Given the description of an element on the screen output the (x, y) to click on. 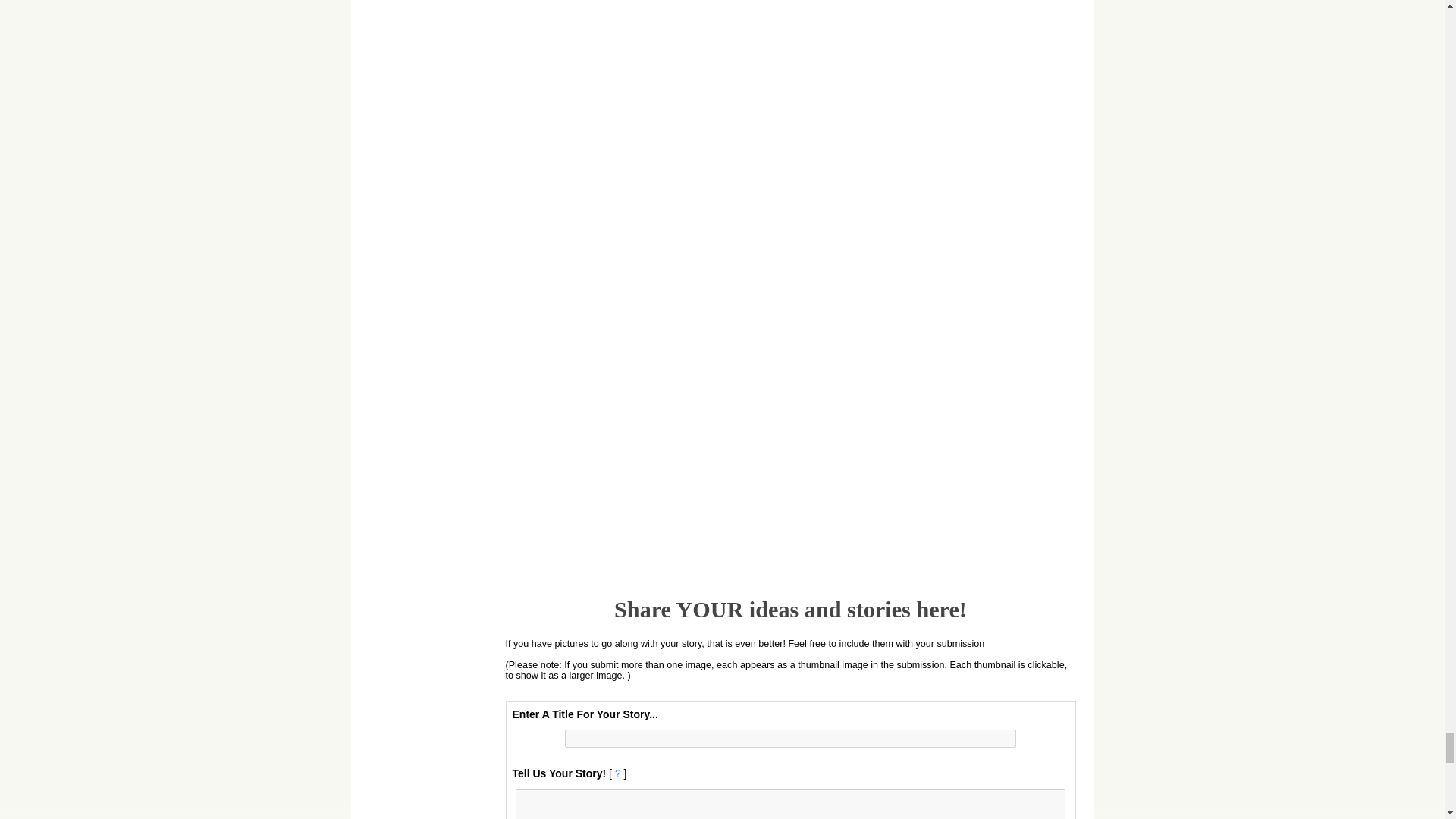
? (617, 773)
